Given the description of an element on the screen output the (x, y) to click on. 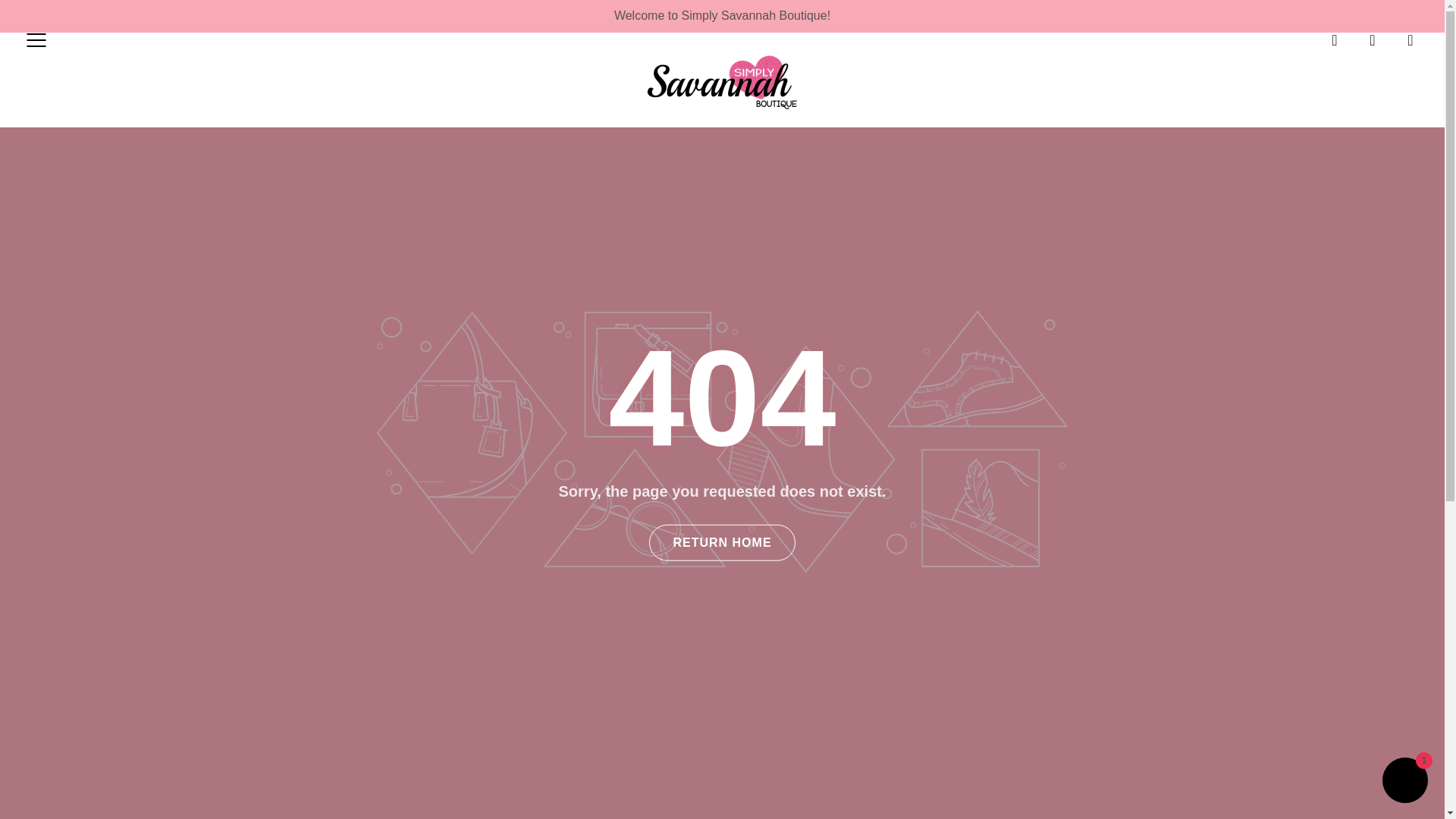
Press space bar to toggle menu (36, 39)
You have 0 items in your cart (1410, 39)
Search (1334, 39)
My account (1372, 39)
Shopify online store chat (1404, 781)
